Given the description of an element on the screen output the (x, y) to click on. 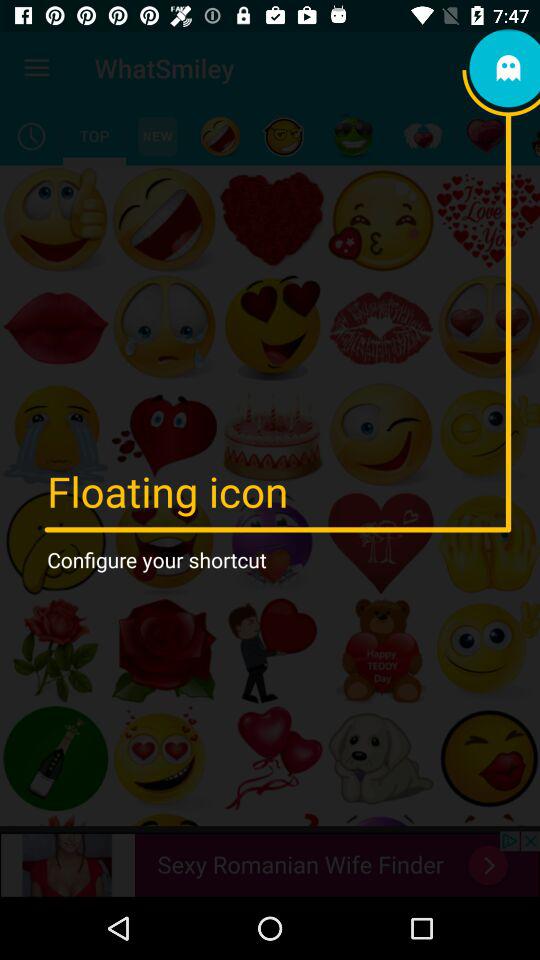
select item (353, 136)
